Given the description of an element on the screen output the (x, y) to click on. 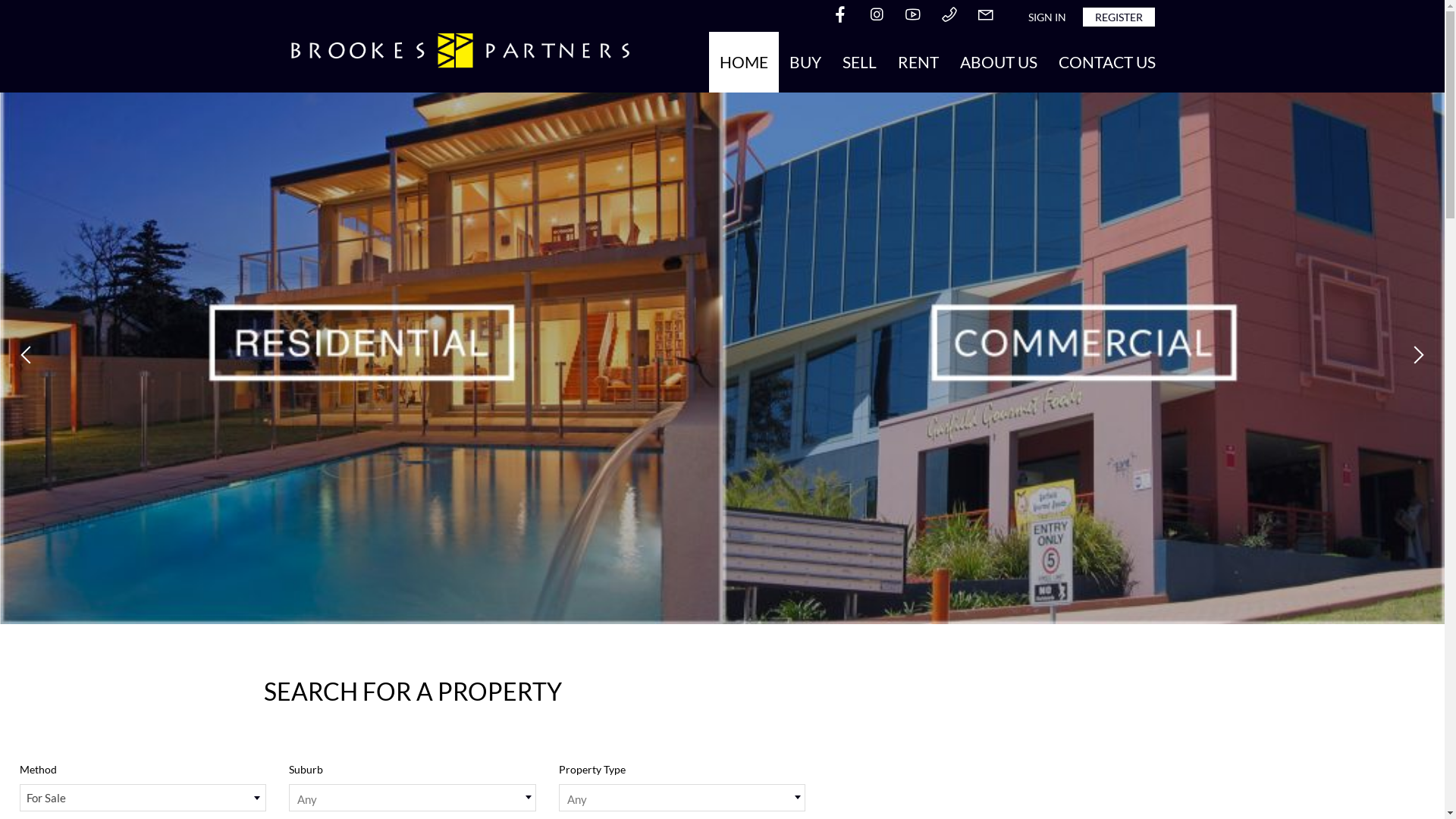
HOME Element type: text (743, 61)
ABOUT US Element type: text (998, 61)
REGISTER Element type: text (1118, 16)
RENT Element type: text (918, 61)
CONTACT US Element type: text (1107, 61)
SELL Element type: text (858, 61)
BUY Element type: text (804, 61)
SIGN IN Element type: text (1047, 16)
